Given the description of an element on the screen output the (x, y) to click on. 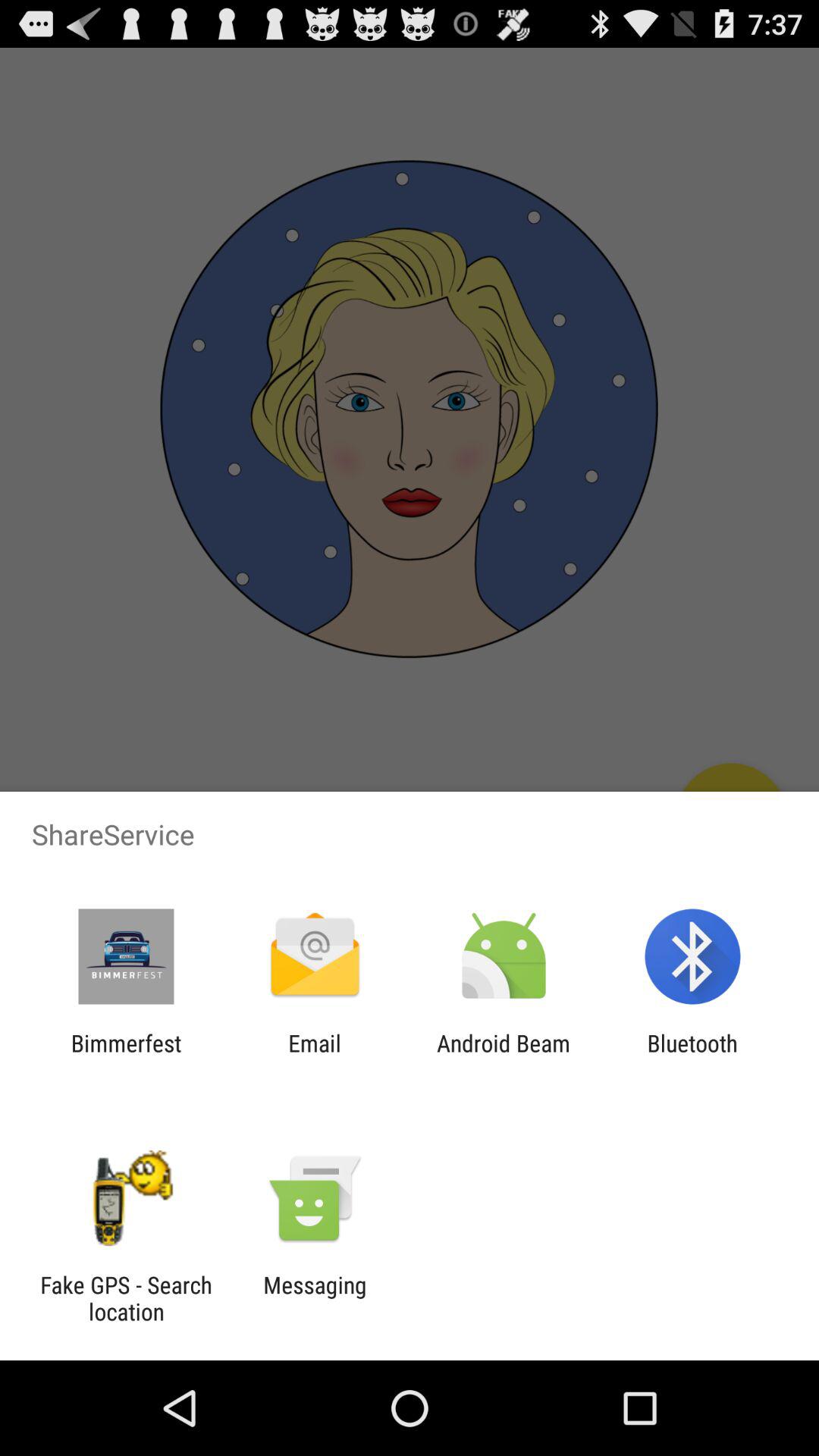
scroll to the bimmerfest icon (126, 1056)
